Given the description of an element on the screen output the (x, y) to click on. 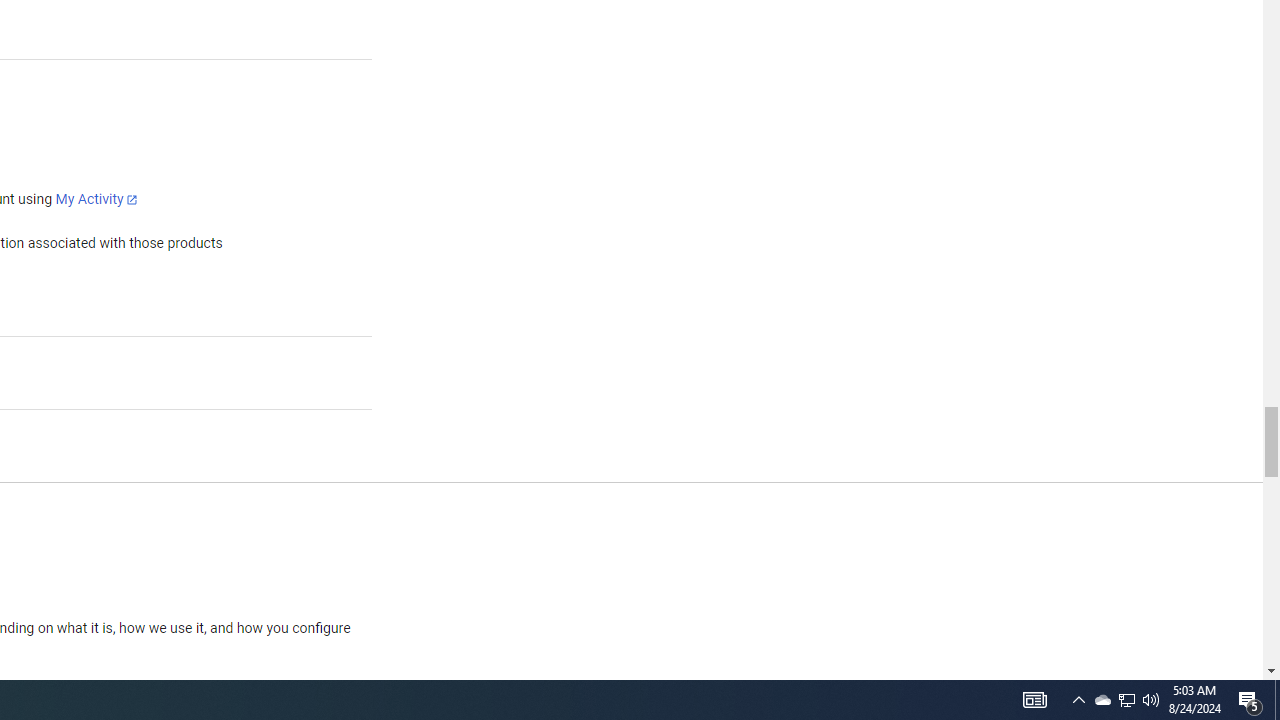
My Activity (96, 199)
